Given the description of an element on the screen output the (x, y) to click on. 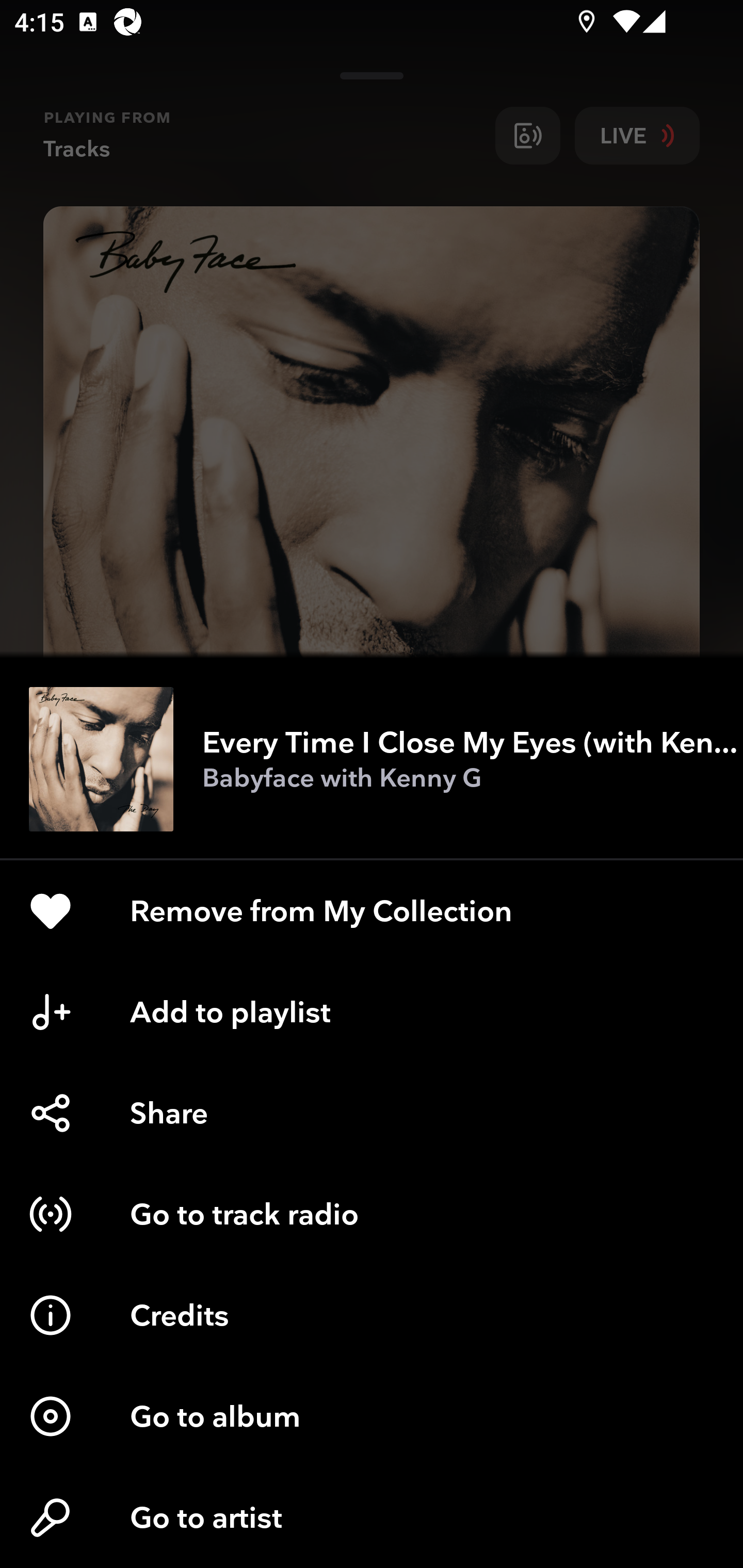
Remove from My Collection (371, 910)
Add to playlist (371, 1012)
Share (371, 1113)
Go to track radio (371, 1214)
Credits (371, 1315)
Go to album (371, 1416)
Go to artist (371, 1517)
